Given the description of an element on the screen output the (x, y) to click on. 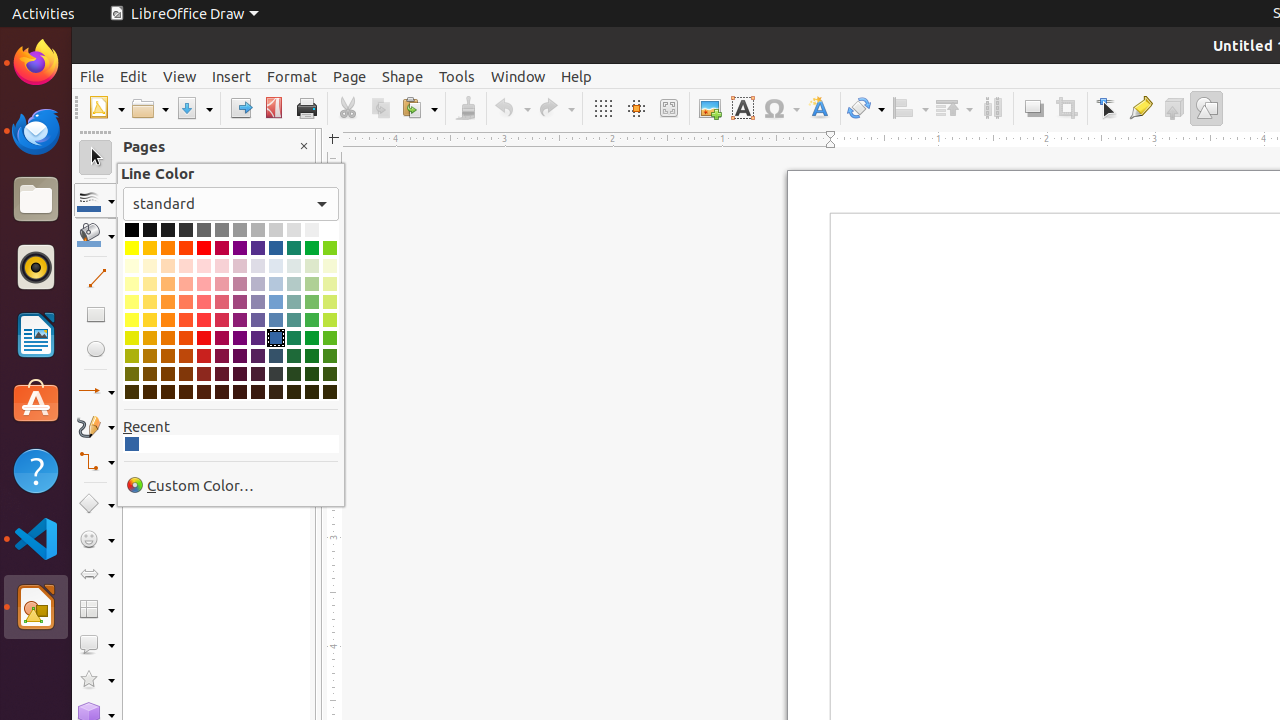
Magenta Element type: list-item (222, 248)
Light Lime 1 Element type: list-item (330, 320)
Light Red 3 Element type: list-item (204, 284)
Line Color Element type: push-button (96, 200)
Light Magenta 3 Element type: list-item (222, 284)
